Given the description of an element on the screen output the (x, y) to click on. 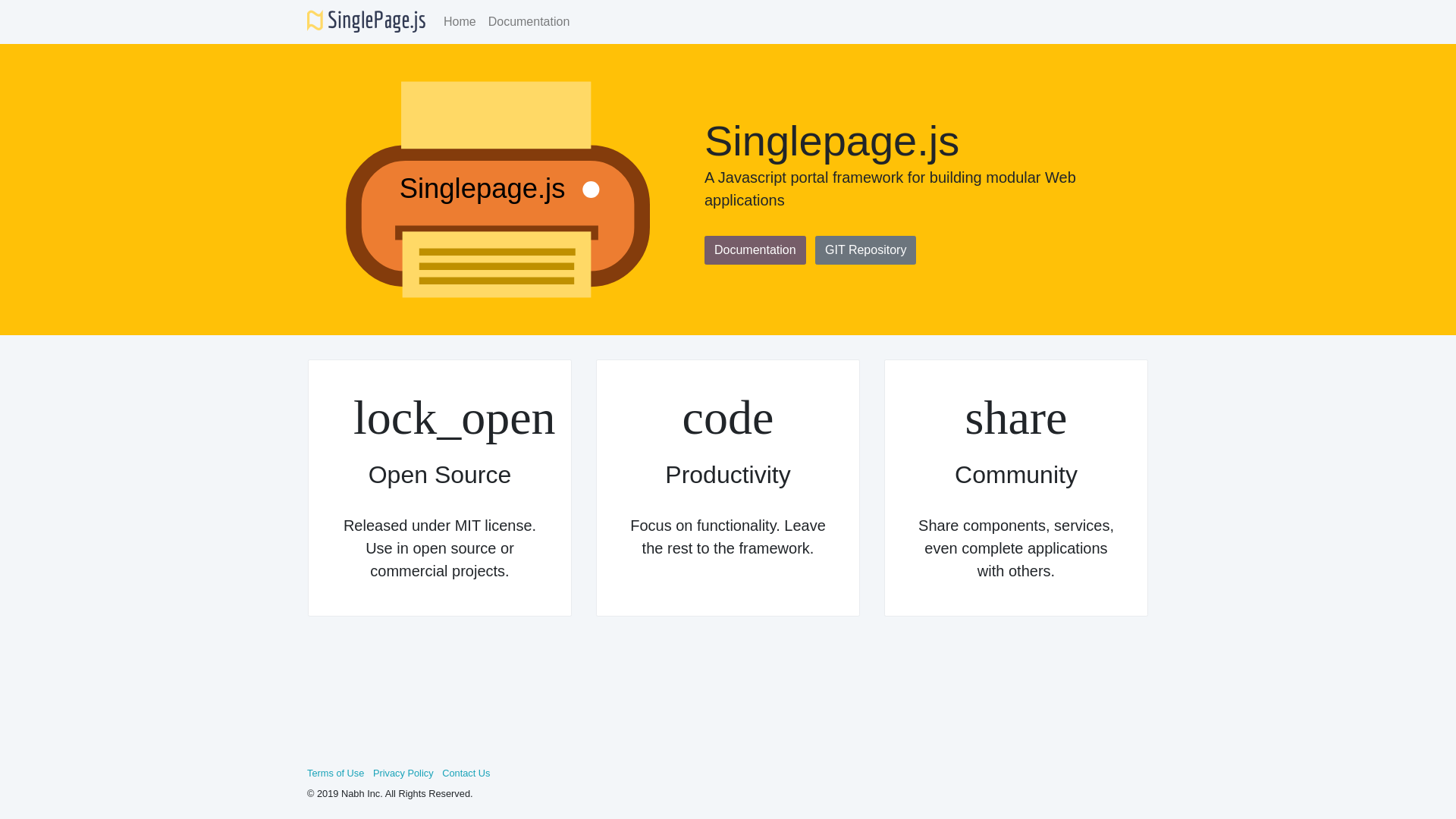
Documentation (755, 249)
Terms of Use (335, 772)
Privacy Policy (402, 772)
GIT Repository (865, 249)
Home (459, 21)
Contact Us (465, 772)
Documentation (528, 21)
